Given the description of an element on the screen output the (x, y) to click on. 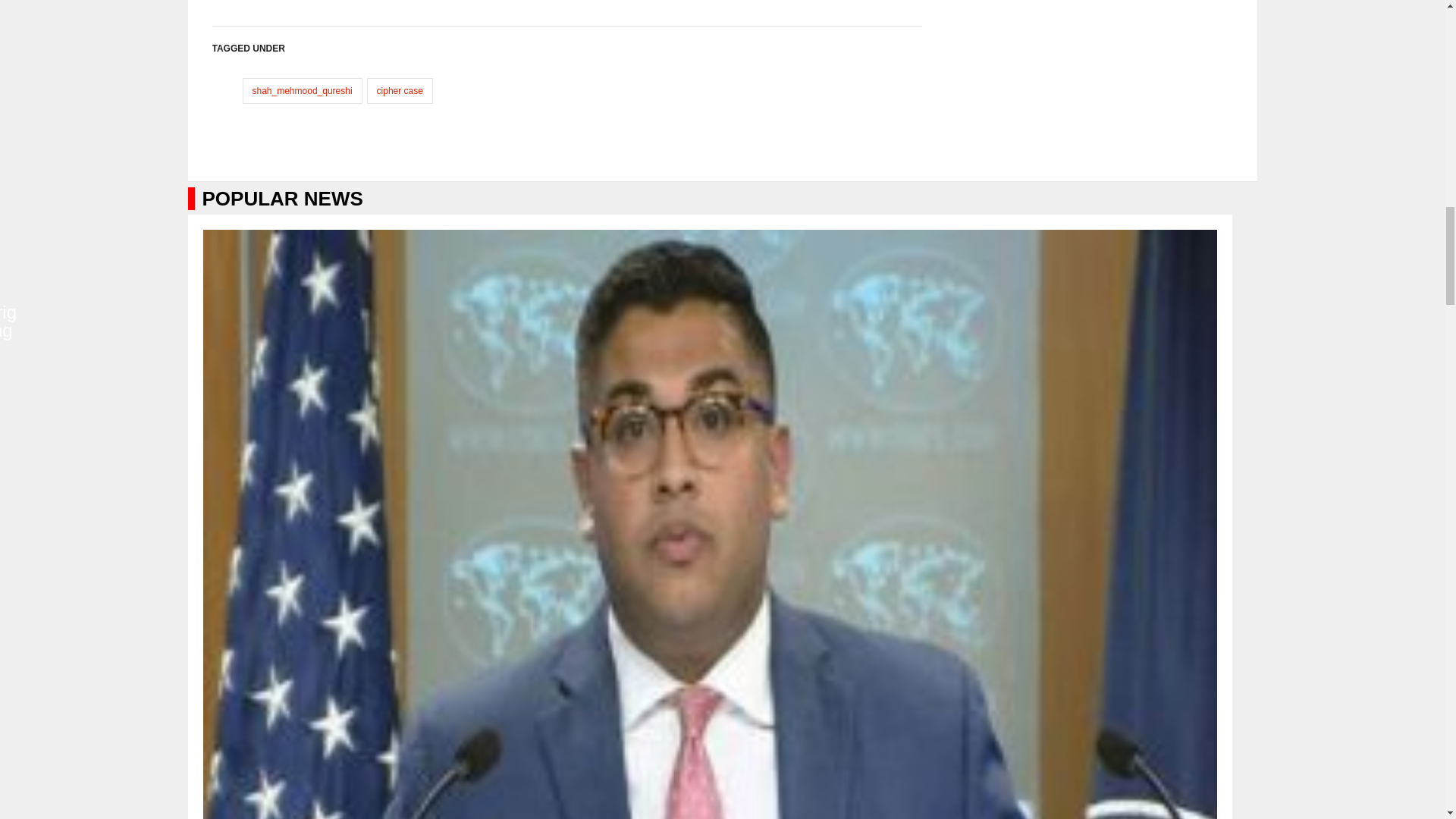
cipher case (400, 90)
